Given the description of an element on the screen output the (x, y) to click on. 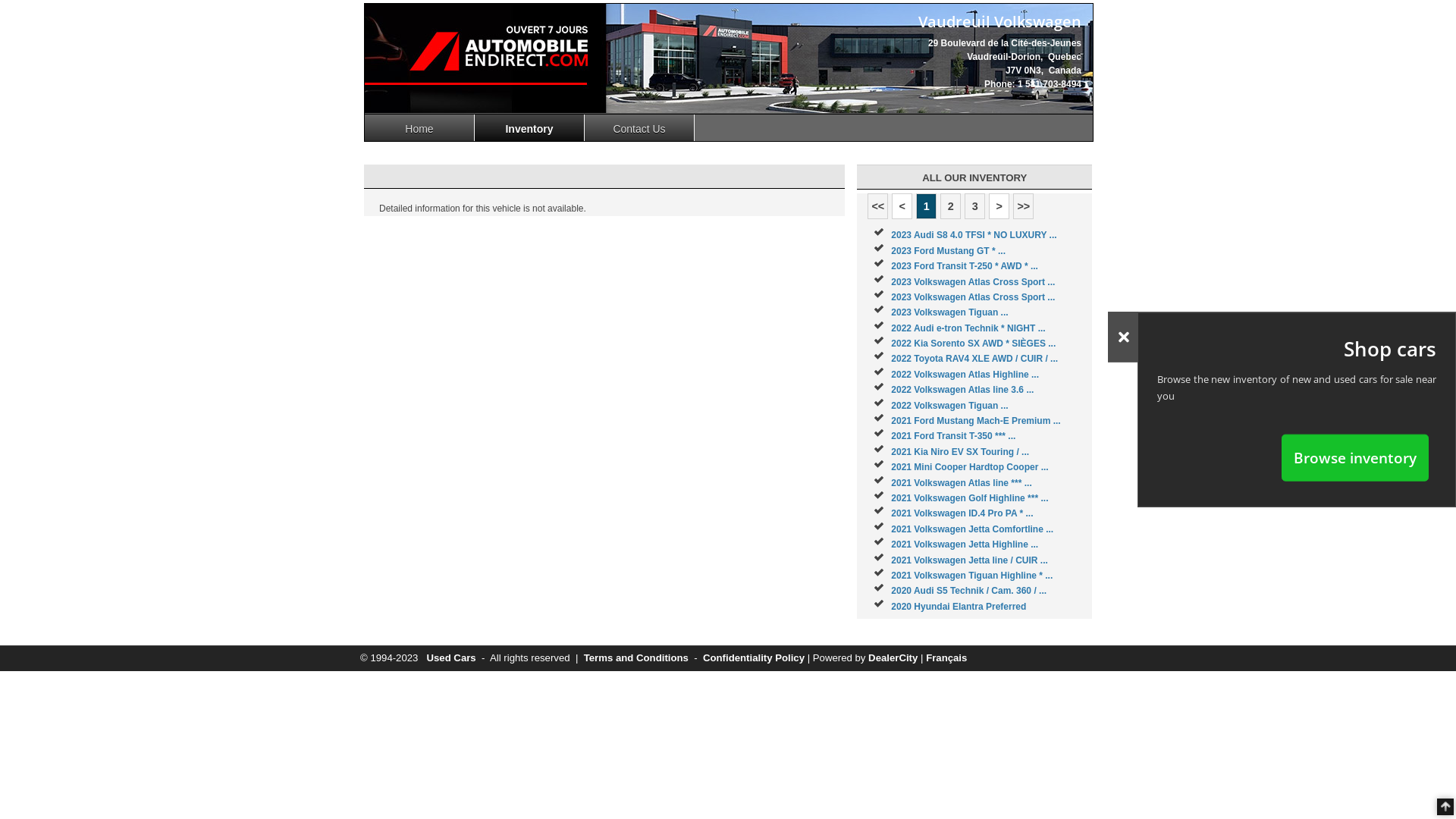
DealerCity Element type: text (892, 657)
Terms and Conditions Element type: text (635, 657)
2021 Ford Mustang Mach-E Premium ... Element type: text (975, 420)
2021 Volkswagen Atlas line *** ... Element type: text (961, 482)
Contact Us Element type: text (639, 127)
2023 Audi S8 4.0 TFSI * NO LUXURY ... Element type: text (973, 234)
2 Element type: text (950, 206)
1 Element type: text (926, 206)
2022 Volkswagen Tiguan ... Element type: text (949, 405)
2022 Audi e-tron Technik * NIGHT ... Element type: text (967, 328)
2022 Volkswagen Atlas line 3.6 ... Element type: text (962, 389)
2021 Volkswagen Tiguan Highline * ... Element type: text (971, 575)
2021 Ford Transit T-350 *** ... Element type: text (953, 435)
2021 Volkswagen Jetta Comfortline ... Element type: text (972, 529)
2021 Volkswagen Jetta line / CUIR ... Element type: text (969, 560)
2020 Hyundai Elantra Preferred Element type: text (958, 606)
3 Element type: text (974, 206)
2023 Ford Mustang GT * ... Element type: text (948, 250)
Home Element type: text (419, 127)
Confidentiality Policy Element type: text (753, 657)
2021 Kia Niro EV SX Touring / ... Element type: text (960, 451)
2021 Volkswagen ID.4 Pro PA * ... Element type: text (961, 513)
<< Element type: text (877, 206)
< Element type: text (901, 206)
>> Element type: text (1023, 206)
2020 Audi S5 Technik / Cam. 360 / ... Element type: text (968, 590)
2023 Ford Transit T-250 * AWD * ... Element type: text (964, 265)
2021 Mini Cooper Hardtop Cooper ... Element type: text (969, 466)
2021 Volkswagen Jetta Highline ... Element type: text (964, 544)
> Element type: text (998, 206)
2023 Volkswagen Atlas Cross Sport ... Element type: text (972, 281)
Browse inventory Element type: text (1354, 457)
2022 Toyota RAV4 XLE AWD / CUIR / ... Element type: text (974, 358)
Used Cars Element type: text (450, 657)
2022 Volkswagen Atlas Highline ... Element type: text (964, 374)
2021 Volkswagen Golf Highline *** ... Element type: text (969, 497)
Inventory Element type: text (529, 127)
2023 Volkswagen Atlas Cross Sport ... Element type: text (972, 296)
2023 Volkswagen Tiguan ... Element type: text (949, 312)
